Given the description of an element on the screen output the (x, y) to click on. 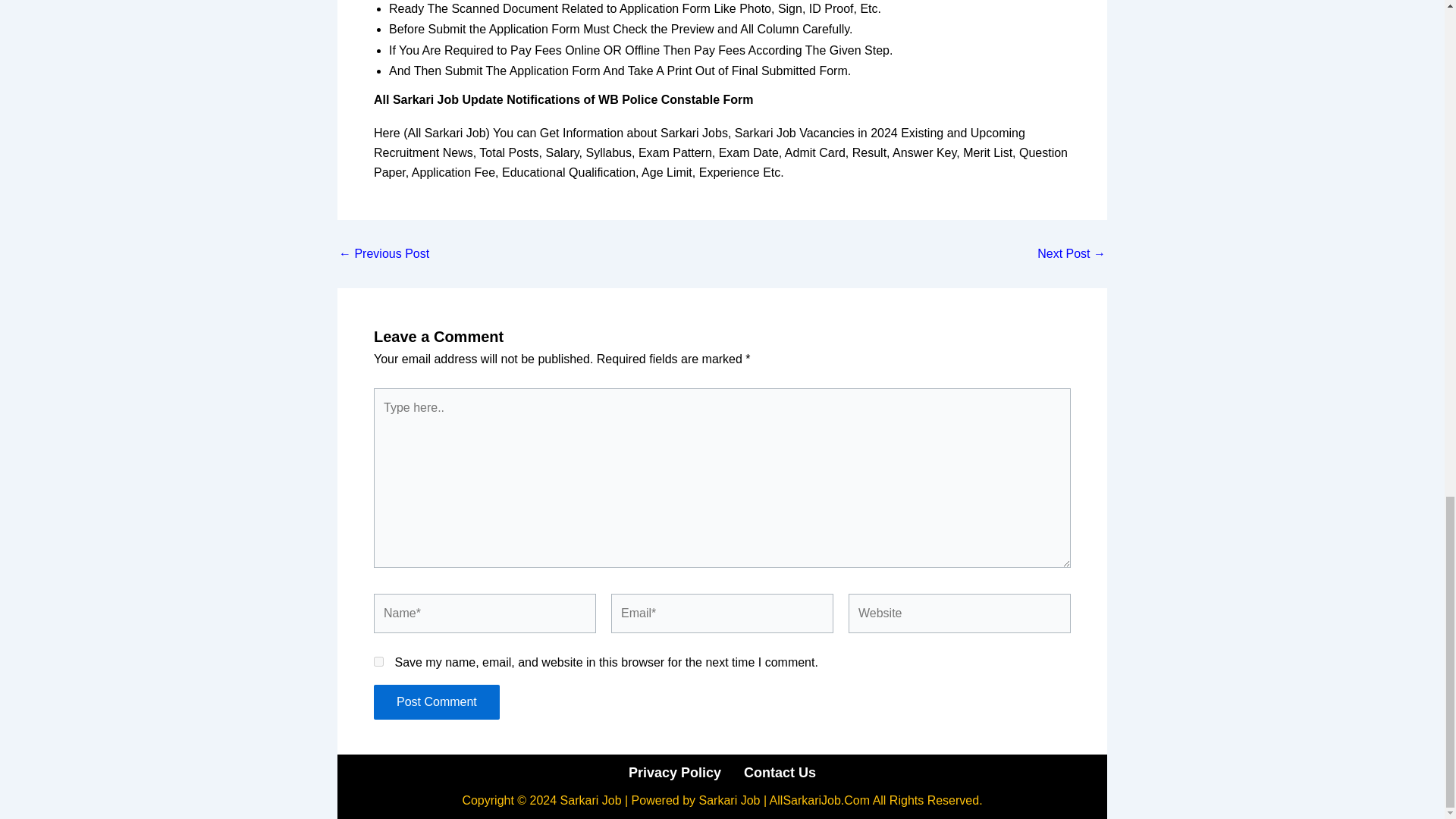
yes (379, 661)
Post Comment (436, 701)
Punjab Police Constable Form 2024 Apply 1746 Post Online (1070, 254)
Post Comment (436, 701)
PPSC Veterinary Officer Form 2024 Apply 300 Post Online (384, 254)
Privacy Policy (674, 772)
Contact Us (779, 772)
